Given the description of an element on the screen output the (x, y) to click on. 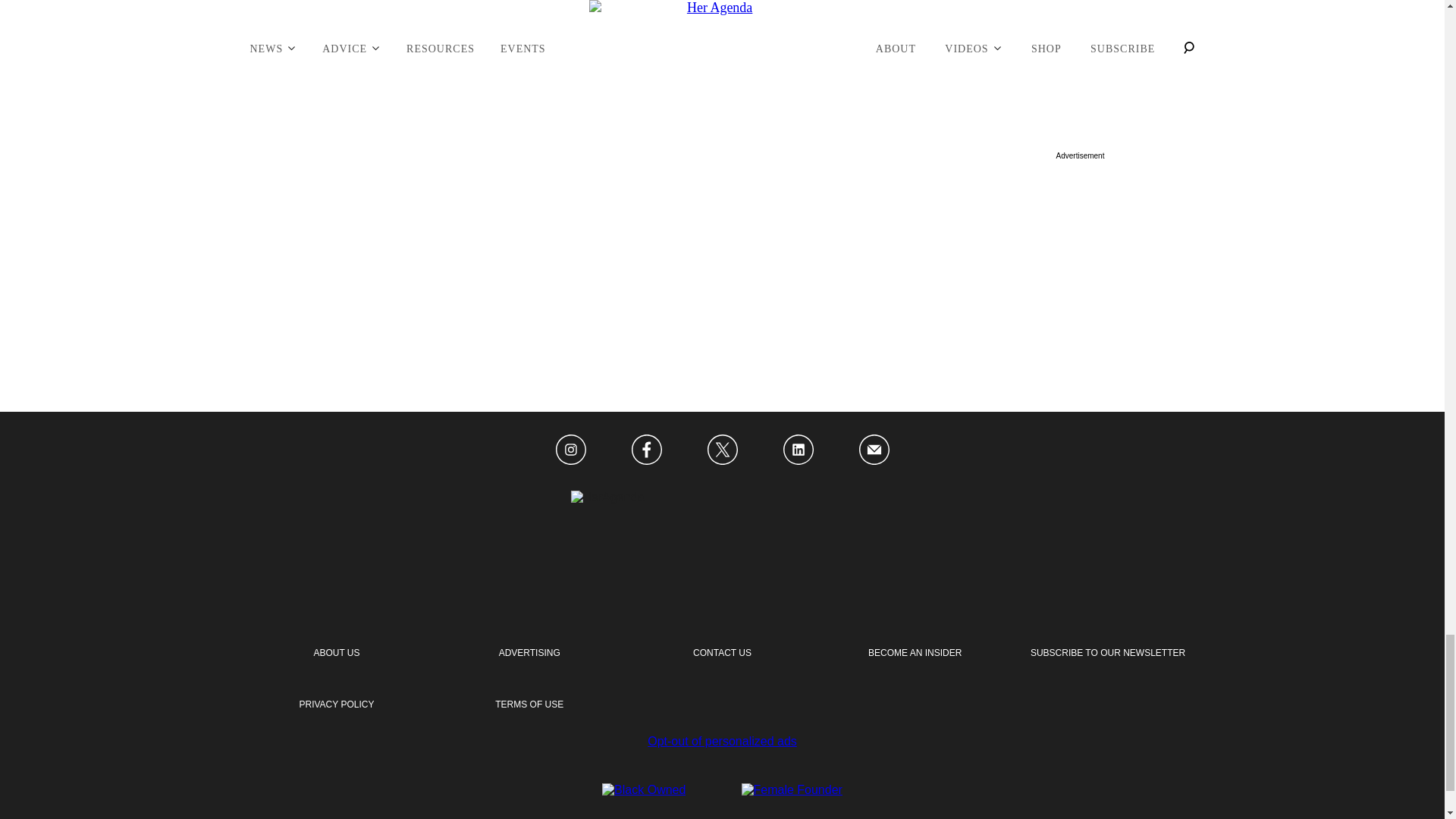
Newsletter signup (1107, 652)
Link to Email (873, 450)
Contact Us (722, 652)
About Us (336, 652)
Link to Facebook (645, 450)
Advertising (529, 652)
Link to X (721, 450)
Become an Insider (913, 652)
Newsletter signup (336, 704)
Link to LinkedIn (797, 450)
